Given the description of an element on the screen output the (x, y) to click on. 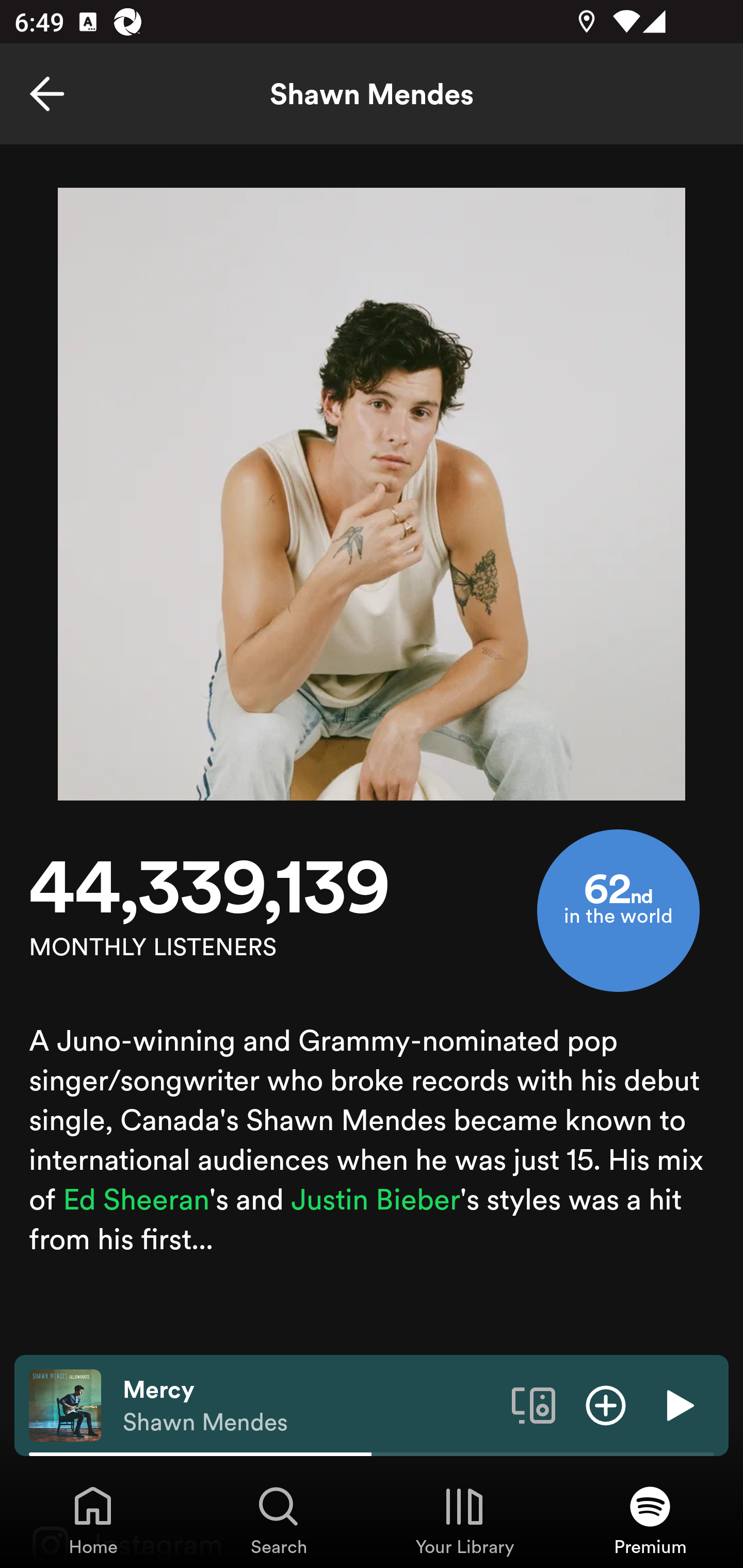
Back (46, 93)
Mercy Shawn Mendes (309, 1405)
The cover art of the currently playing track (64, 1404)
Connect to a device. Opens the devices menu (533, 1404)
Add item (605, 1404)
Play (677, 1404)
Home, Tab 1 of 4 Home Home (92, 1519)
Search, Tab 2 of 4 Search Search (278, 1519)
Your Library, Tab 3 of 4 Your Library Your Library (464, 1519)
Premium, Tab 4 of 4 Premium Premium (650, 1519)
